Given the description of an element on the screen output the (x, y) to click on. 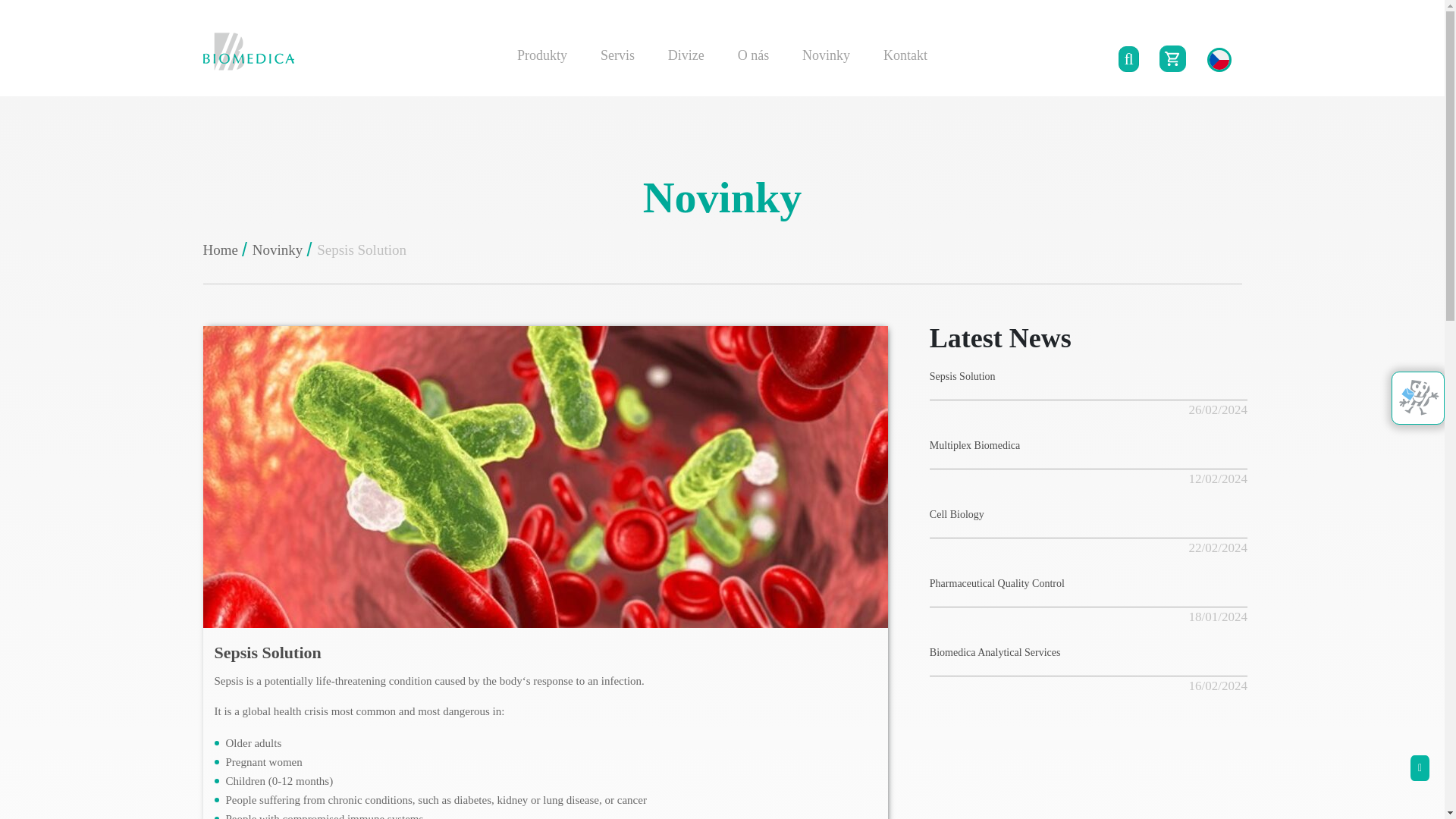
Produkty (541, 54)
Servis (617, 54)
Kontakt (905, 54)
Divize (685, 54)
Novinky (825, 54)
